Given the description of an element on the screen output the (x, y) to click on. 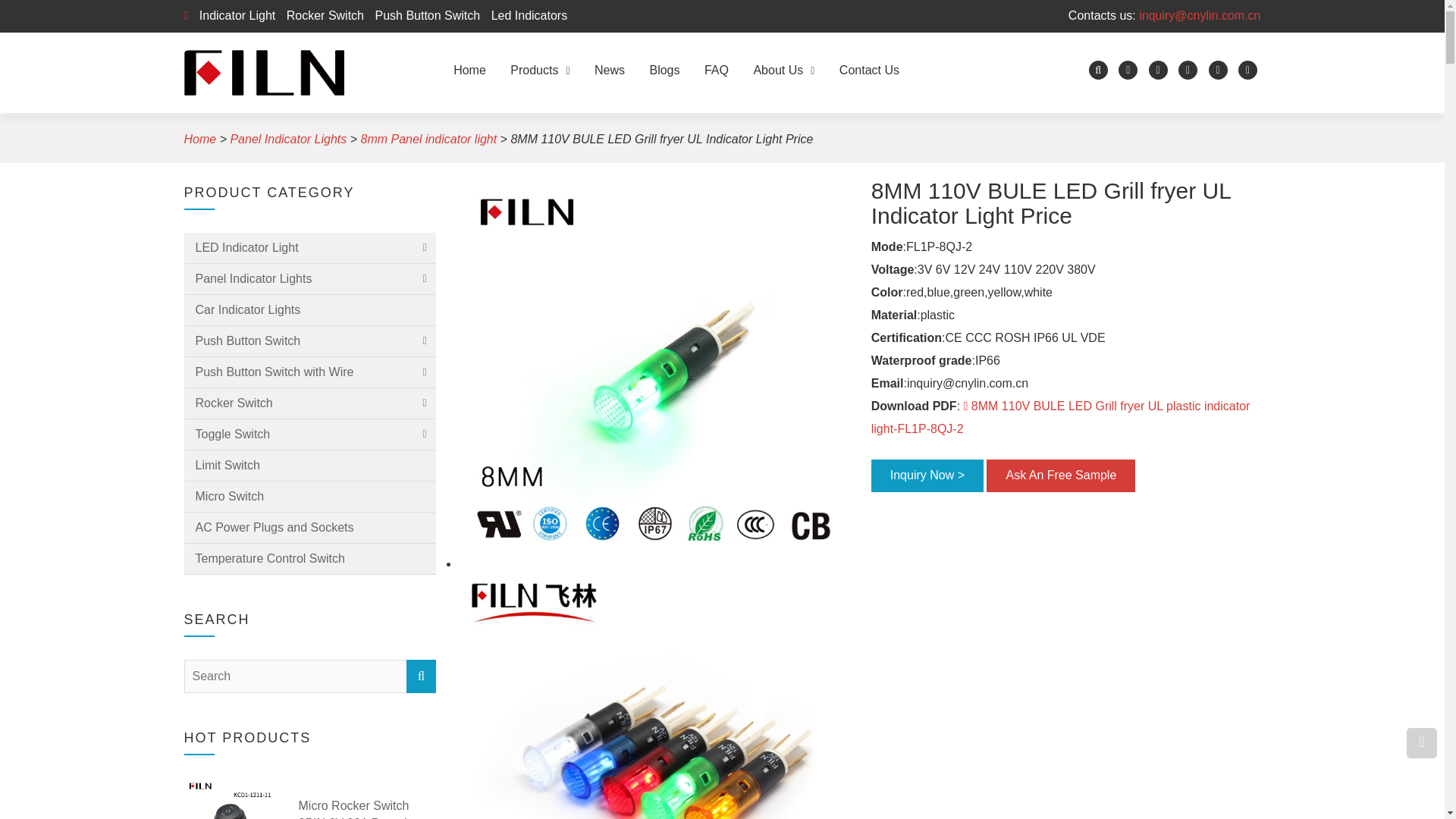
Push Button Switch (423, 15)
Home (469, 70)
indicator light price (653, 693)
Products (539, 70)
Go to the Panel Indicator Lights category archives. (288, 138)
Go to the 8mm Panel indicator light category archives. (429, 138)
Micro Rocker Switch 3PIN 6V 20A Round Electrical (366, 808)
Rocker Switch (321, 15)
Indicator Light (234, 15)
Led Indicators (525, 15)
Go to indicatorlight. (199, 138)
